Given the description of an element on the screen output the (x, y) to click on. 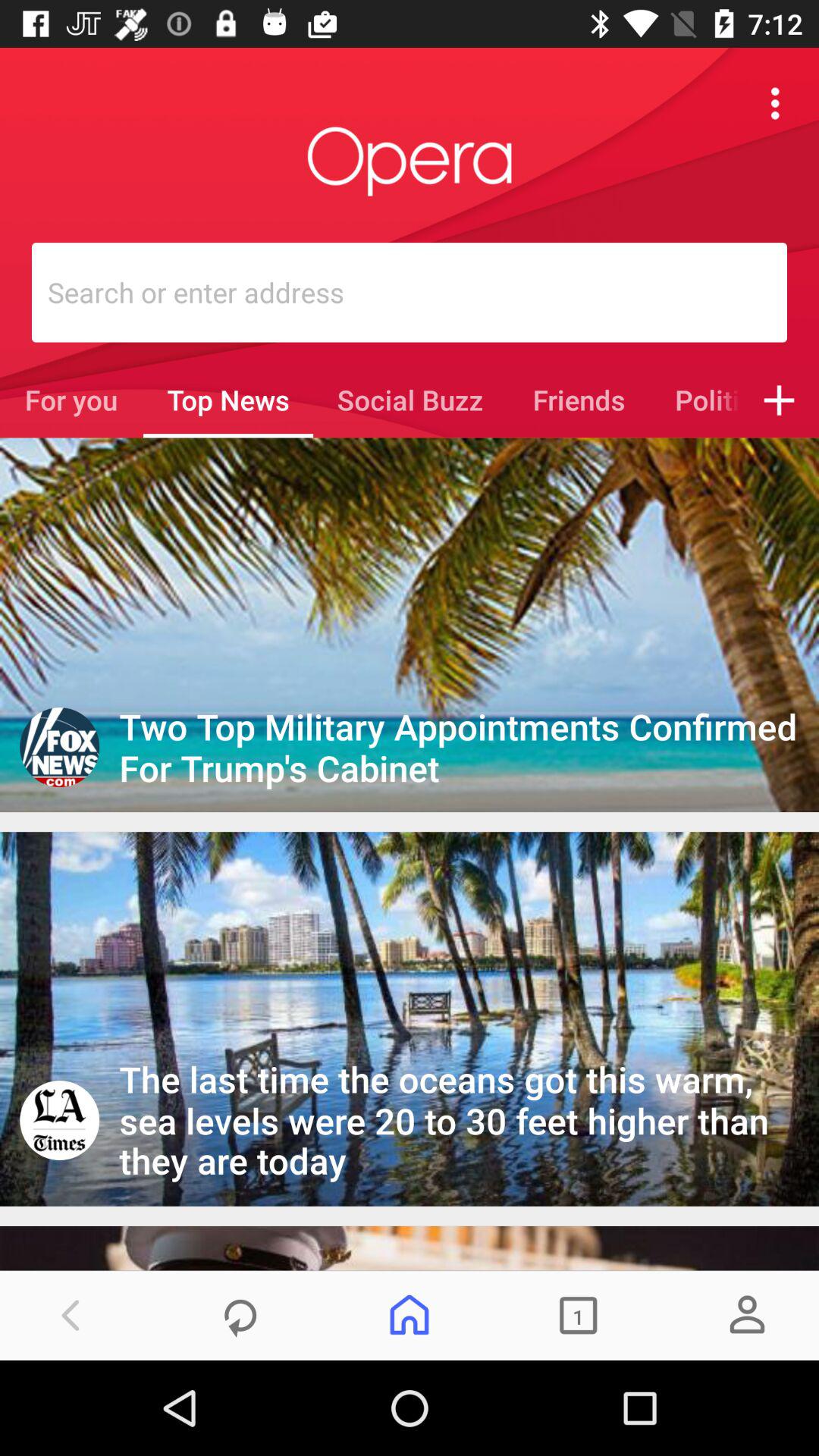
tap icon to the right of politics item (779, 399)
